Given the description of an element on the screen output the (x, y) to click on. 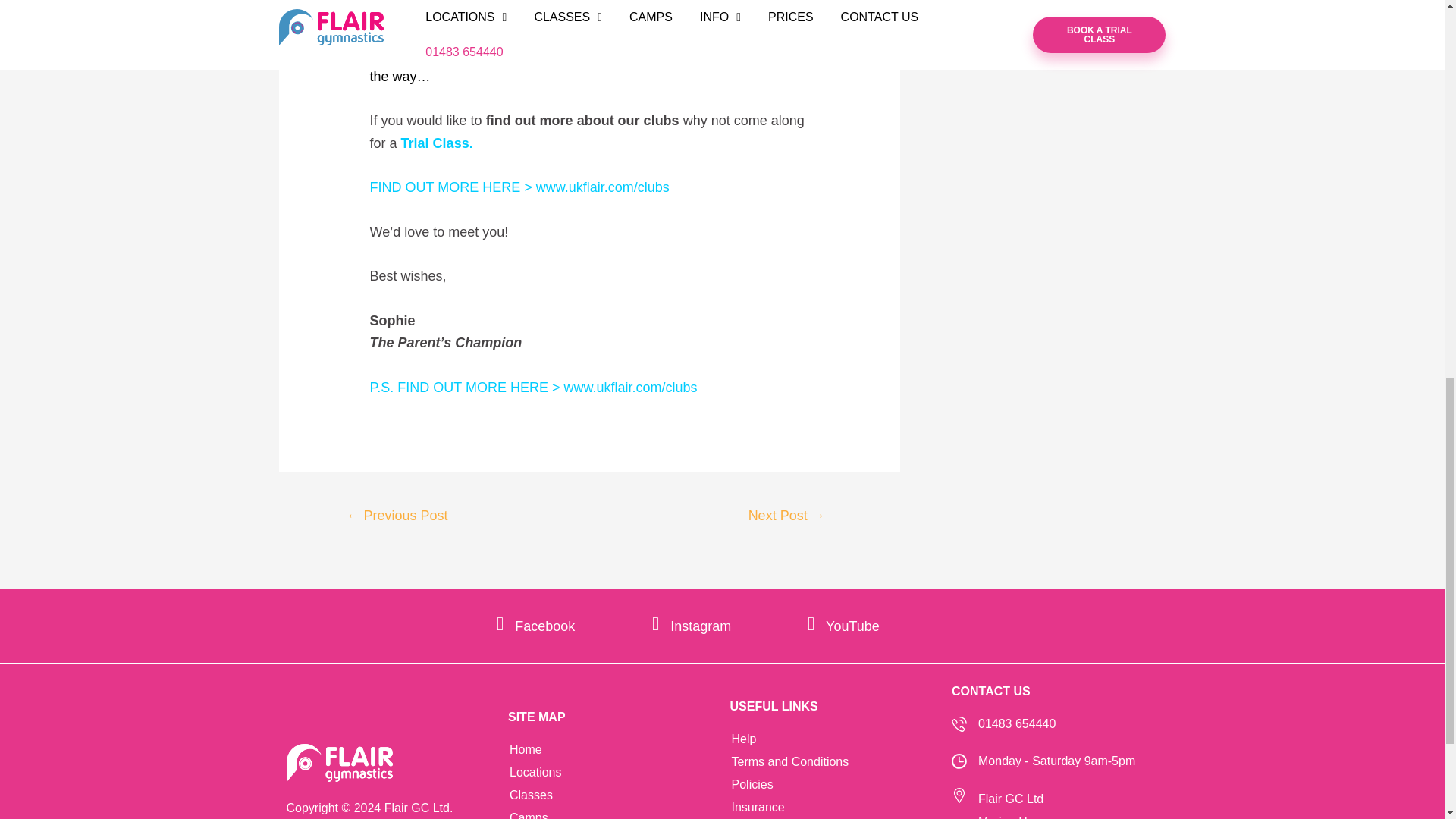
Have you reserved your place at Christmas Tumble Camp yet? (786, 517)
Former Flair Gymnastics Coach Lands Dream Job! (395, 517)
